Given the description of an element on the screen output the (x, y) to click on. 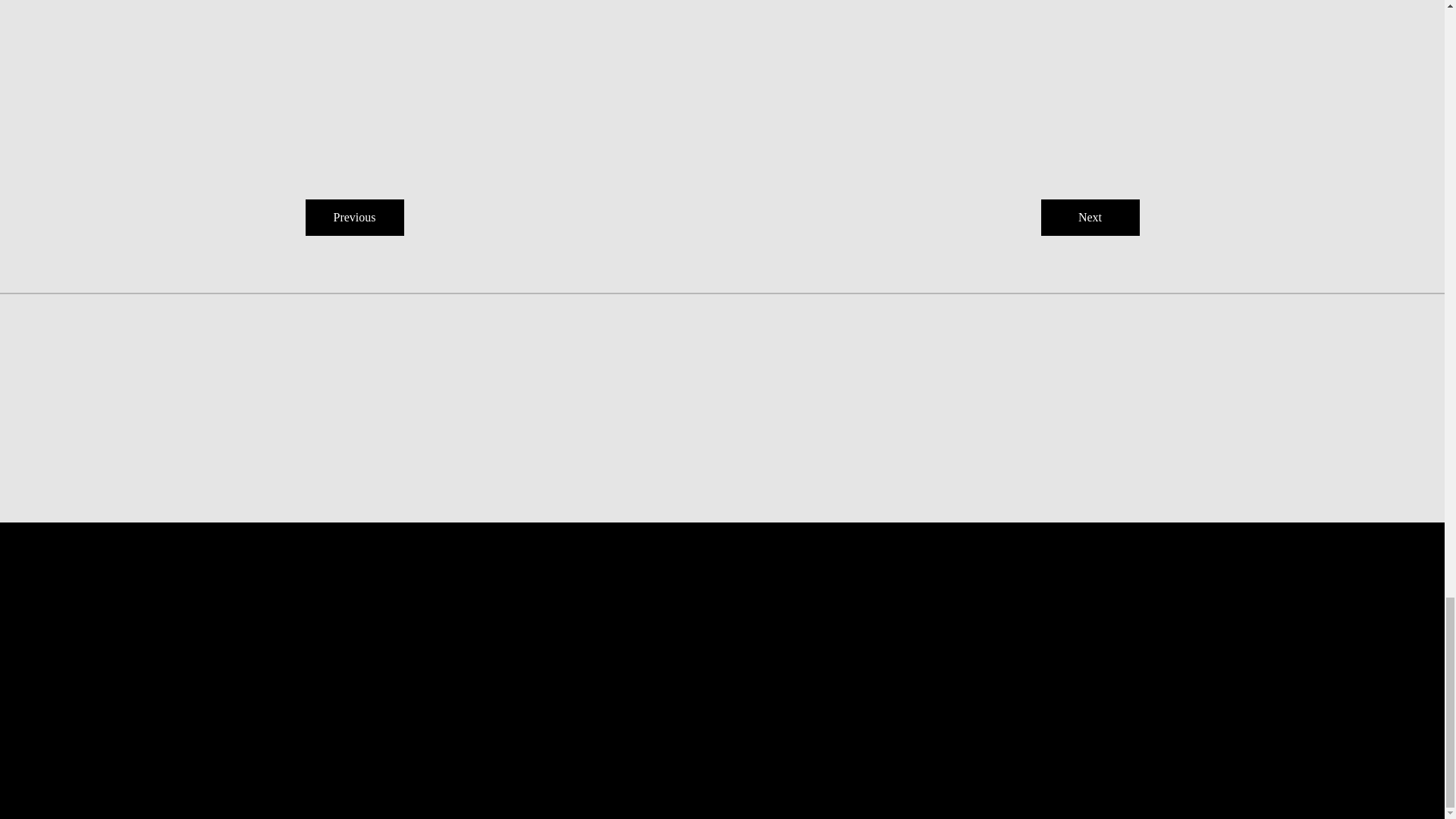
Next (1089, 217)
Previous (353, 217)
